Given the description of an element on the screen output the (x, y) to click on. 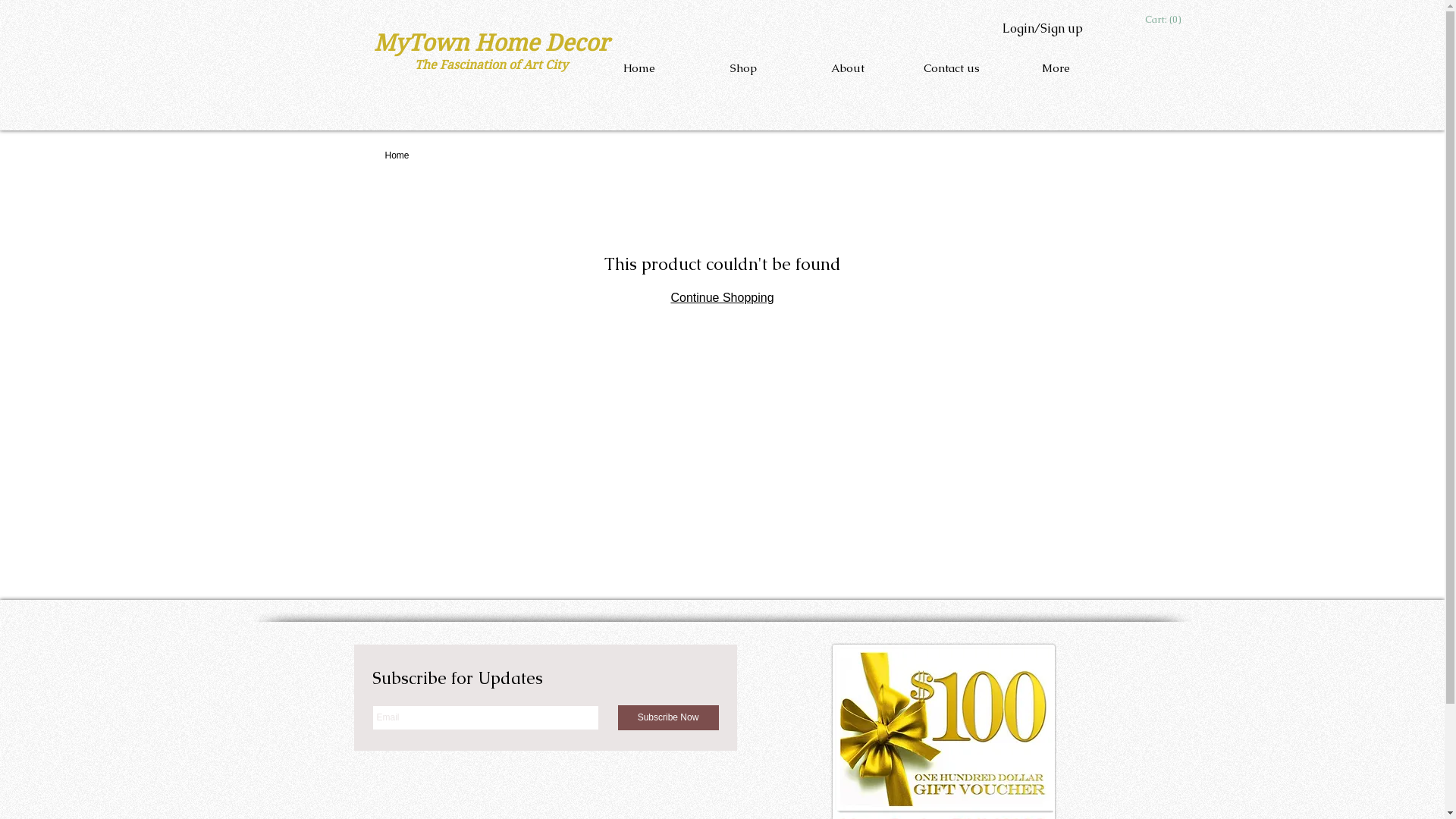
Continue Shopping Element type: text (721, 297)
Contact us Element type: text (951, 67)
About Element type: text (848, 67)
Shop Element type: text (743, 67)
Cart: (0) Element type: text (1163, 19)
Home Element type: text (638, 67)
Subscribe Now Element type: text (667, 717)
Home Element type: text (397, 155)
Login/Sign up Element type: text (1041, 28)
